Given the description of an element on the screen output the (x, y) to click on. 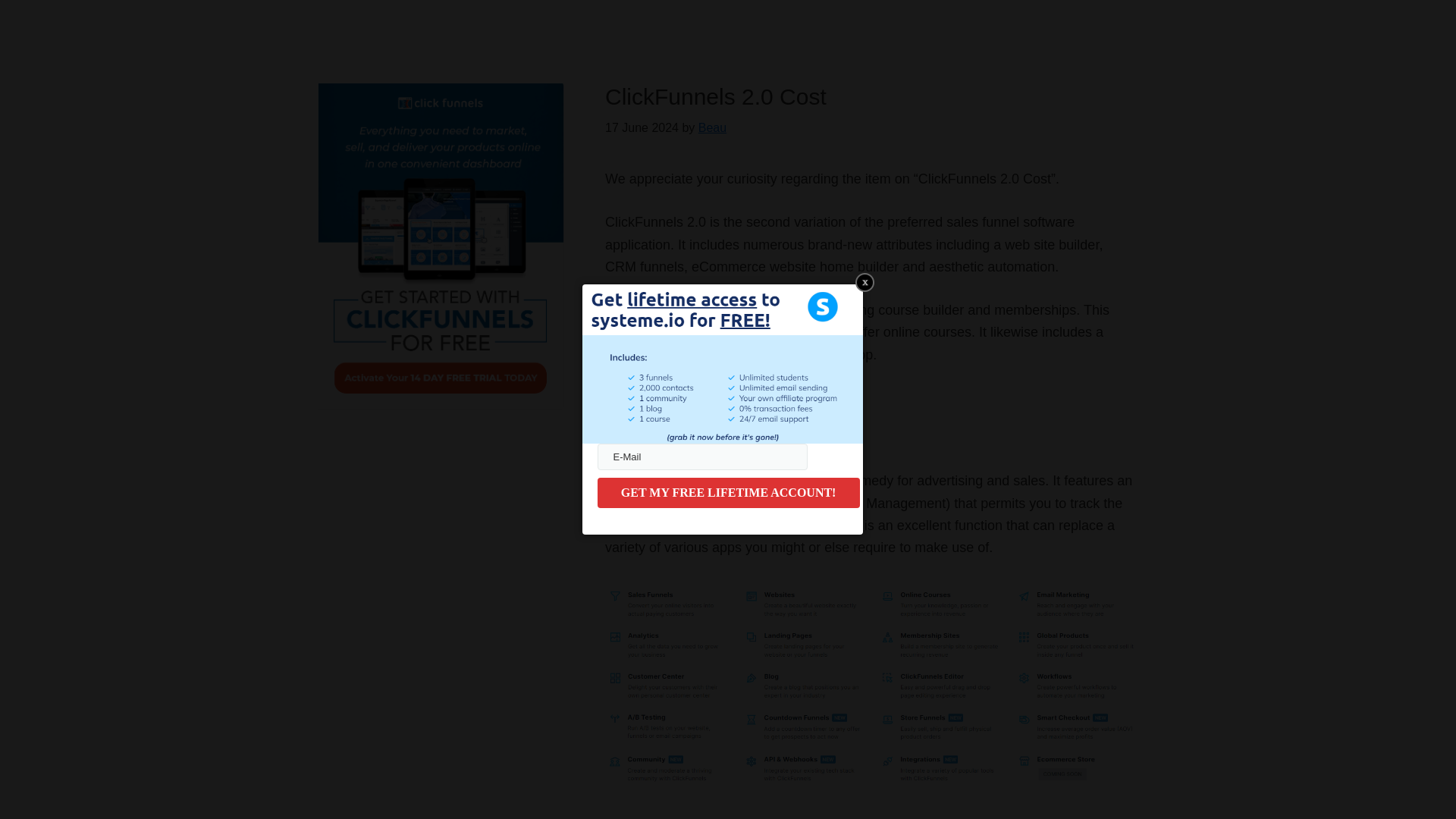
GET MY FREE LIFETIME ACCOUNT! (728, 492)
Beau (712, 127)
GET MY FREE LIFETIME ACCOUNT! (728, 492)
